Given the description of an element on the screen output the (x, y) to click on. 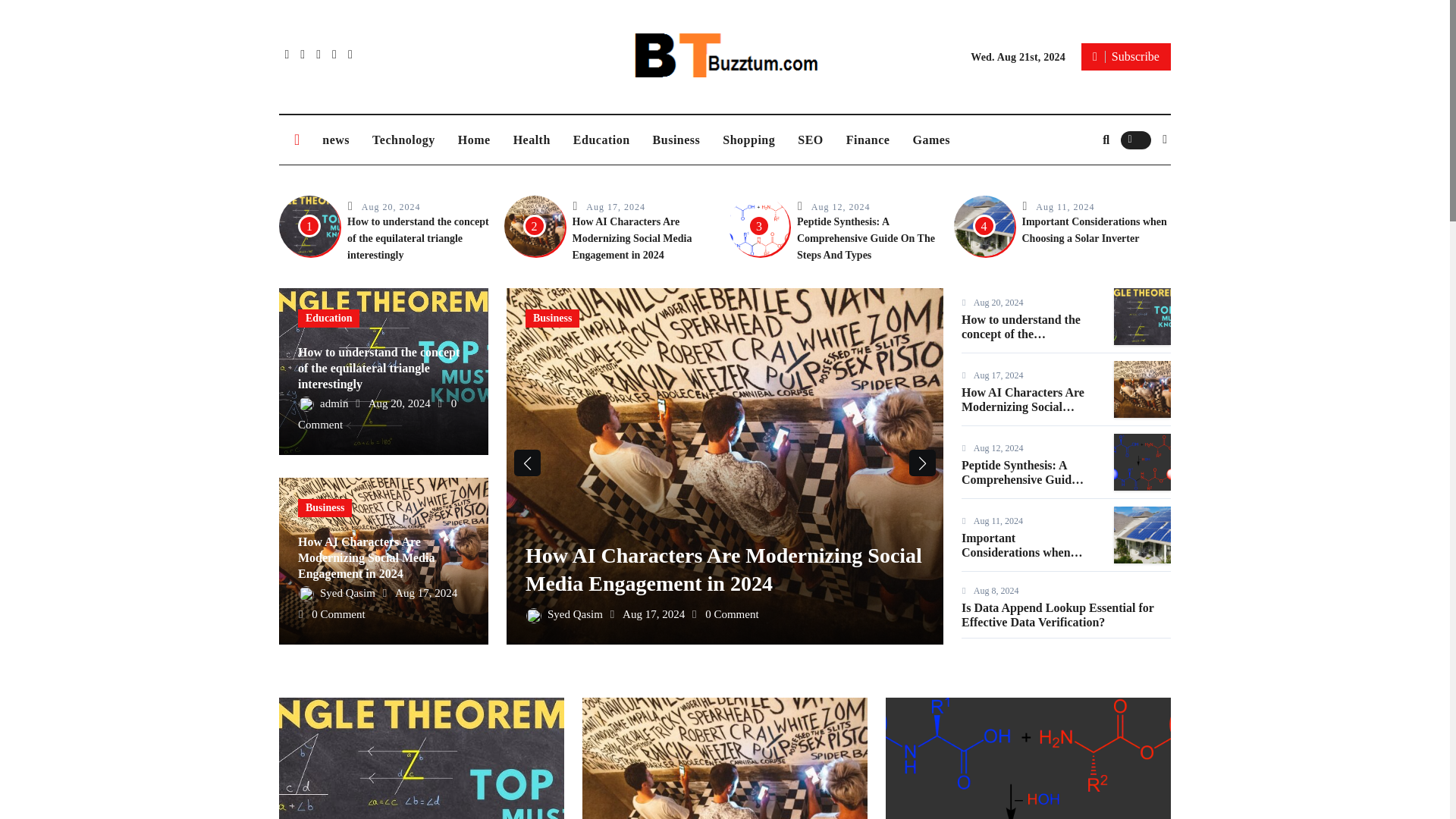
Shopping (748, 139)
Finance (867, 139)
Home (474, 139)
Health (532, 139)
Finance (867, 139)
Education (602, 139)
Subscribe (1125, 56)
Technology (403, 139)
Aug 20, 2024 (390, 206)
